Given the description of an element on the screen output the (x, y) to click on. 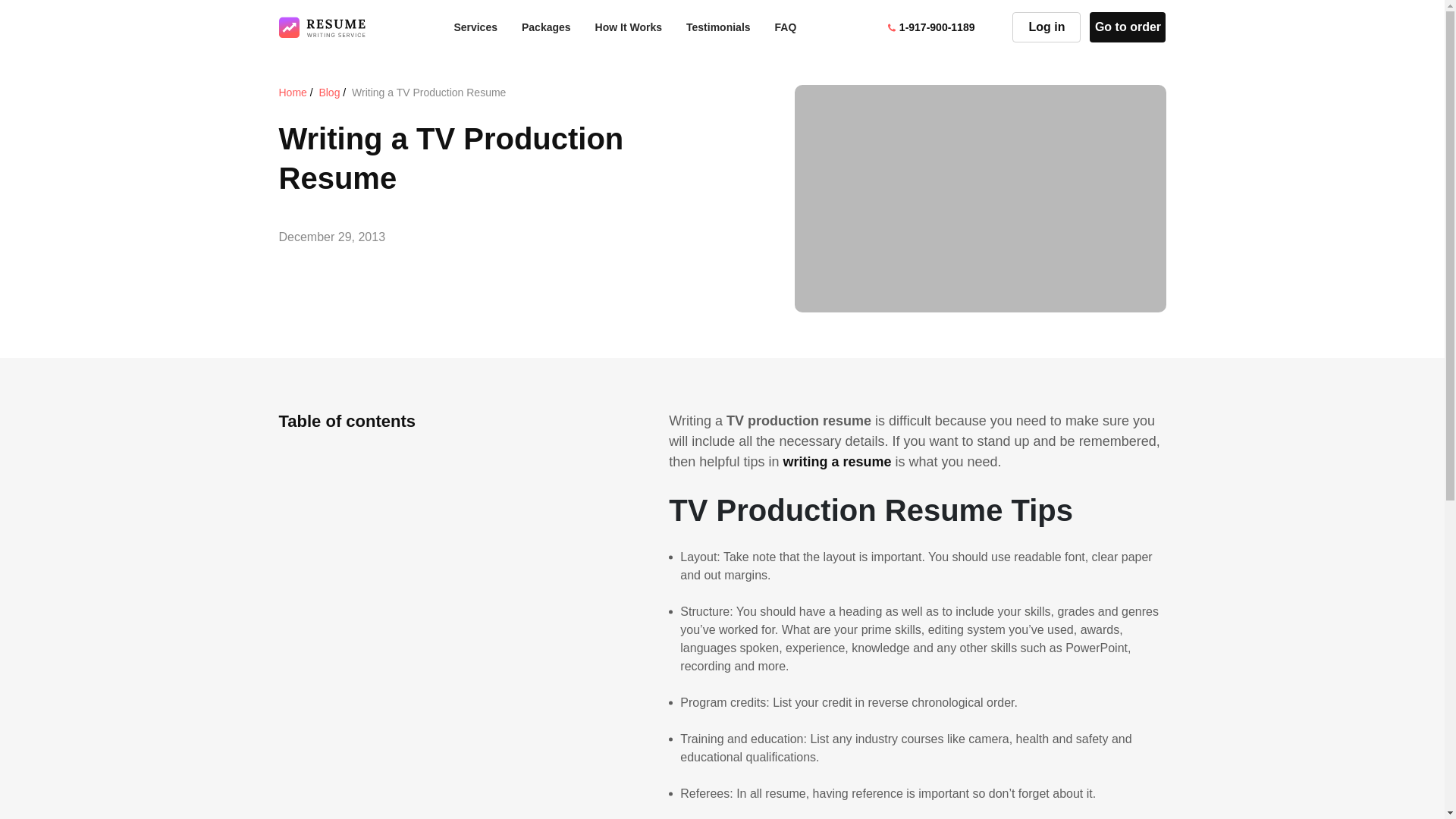
Services (474, 27)
Resume Writing Service: Home (837, 461)
FAQ (785, 27)
writing a resume (837, 461)
Home (293, 92)
Go to order (1127, 26)
Blog (328, 92)
Testimonials (718, 27)
Packages (545, 27)
How It Works (628, 27)
